Given the description of an element on the screen output the (x, y) to click on. 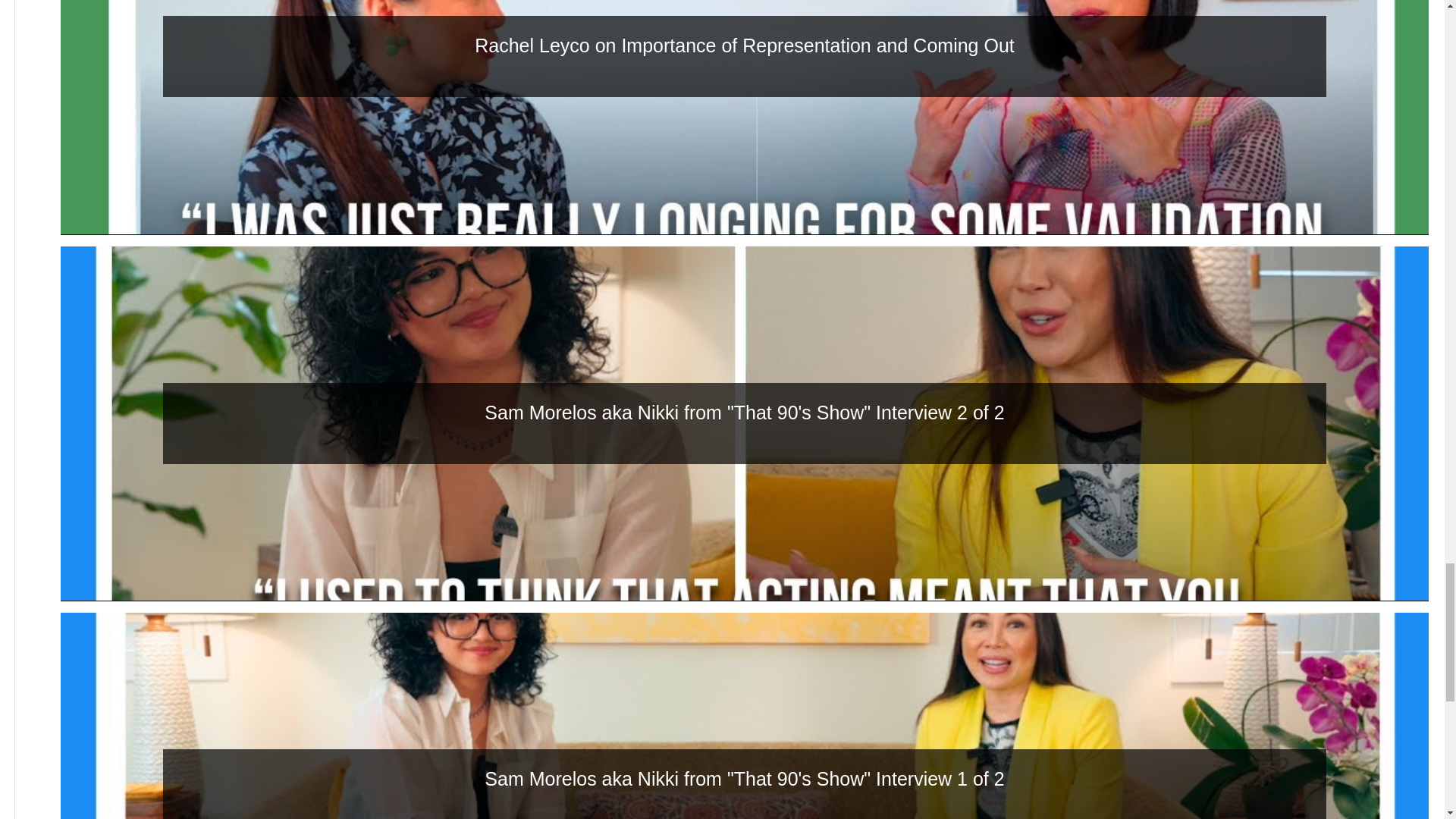
Rachel Leyco on Importance of Representation and Coming Out (744, 45)
Sam Morelos aka Nikki from "That 90's Show" Interview 2 of 2 (744, 412)
Sam Morelos aka Nikki from "That 90's Show" Interview 1 of 2 (744, 779)
